Given the description of an element on the screen output the (x, y) to click on. 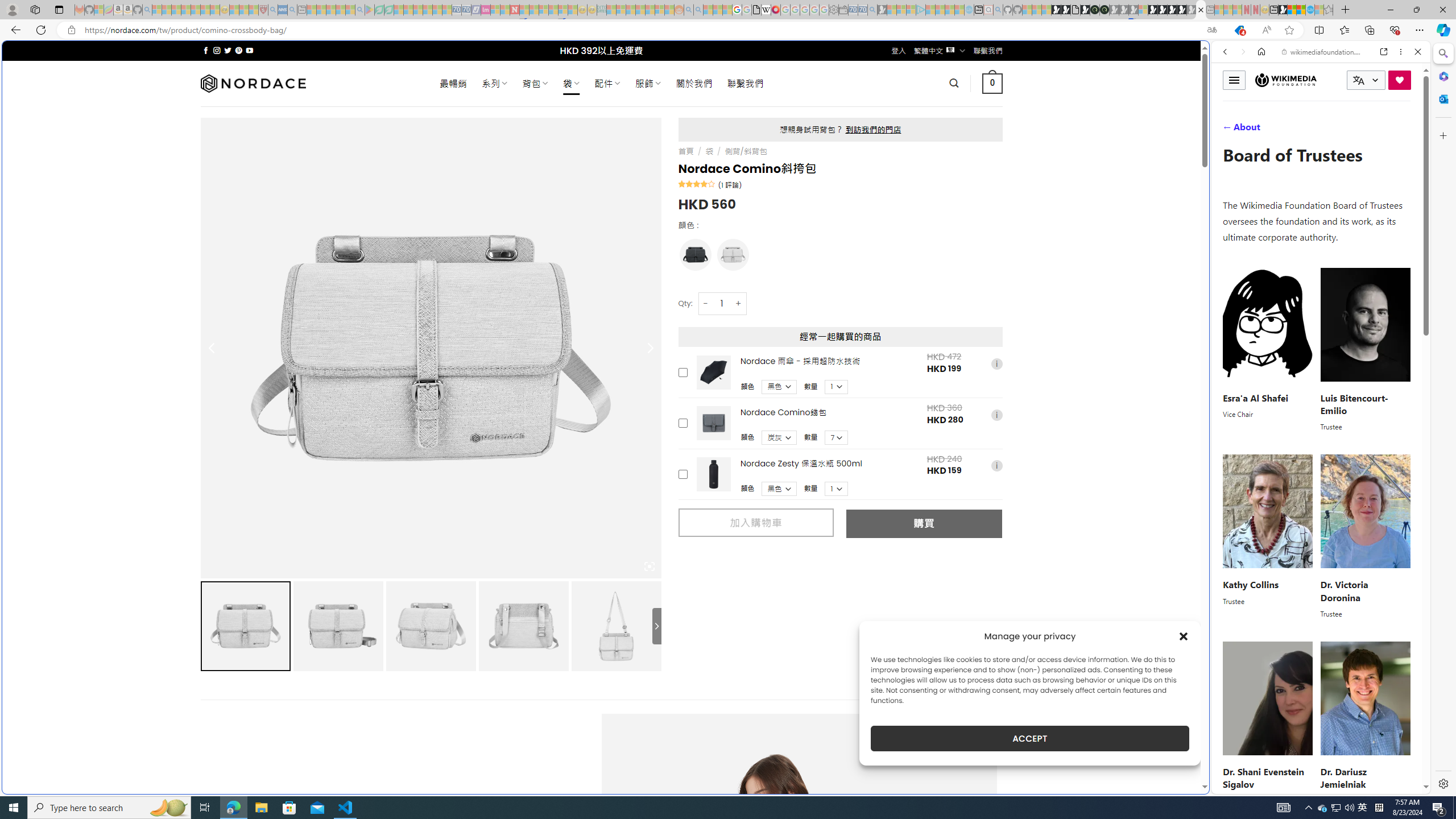
Wikimedia Foundation (1286, 79)
Tabs you've opened (885, 151)
Luis Bitencourt-Emilio (1354, 403)
Frequently visited (965, 151)
Donate now (1399, 80)
